Given the description of an element on the screen output the (x, y) to click on. 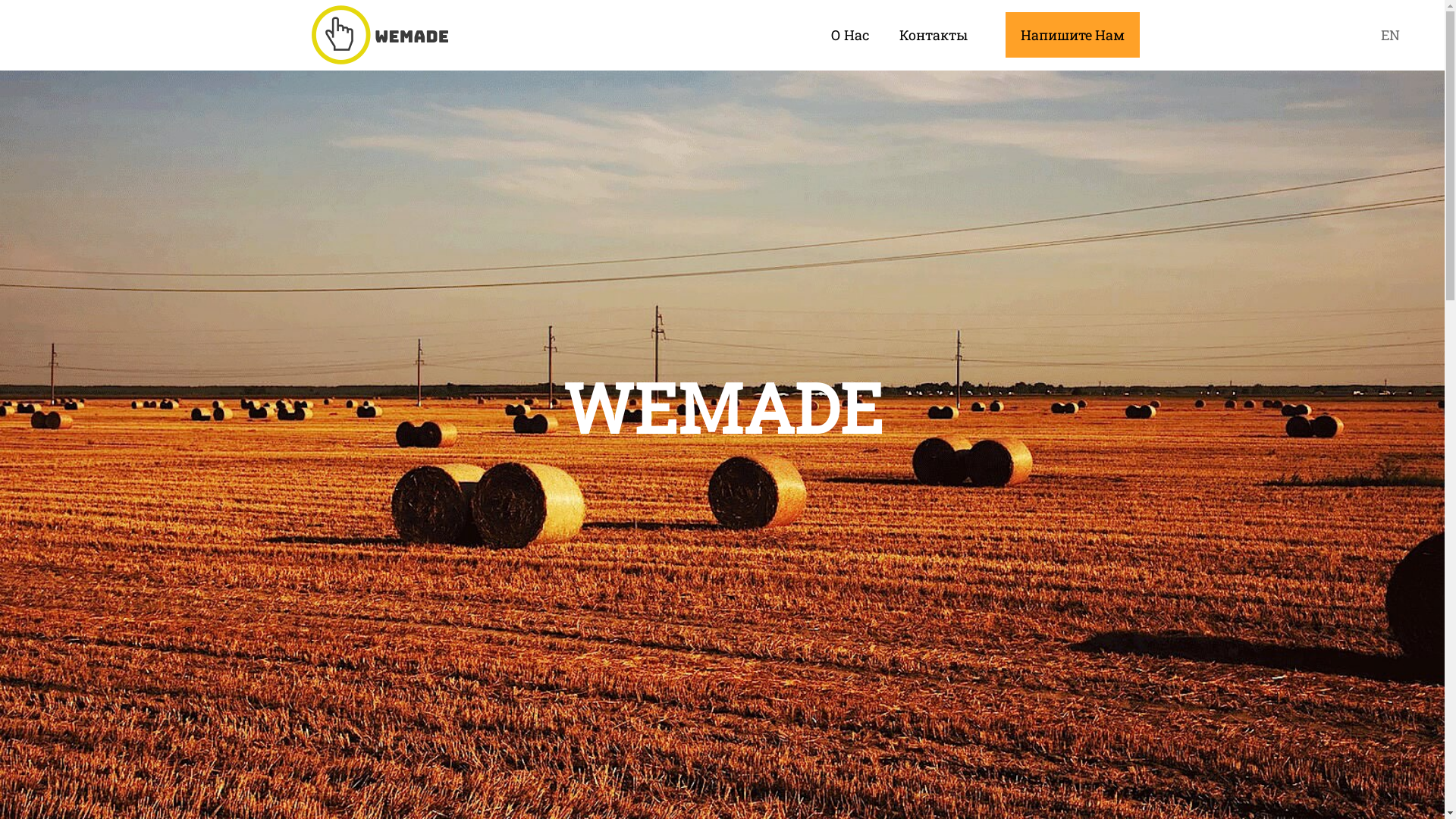
Home Element type: hover (379, 35)
EN Element type: text (1390, 34)
Skip to main content Element type: text (51, 0)
